Given the description of an element on the screen output the (x, y) to click on. 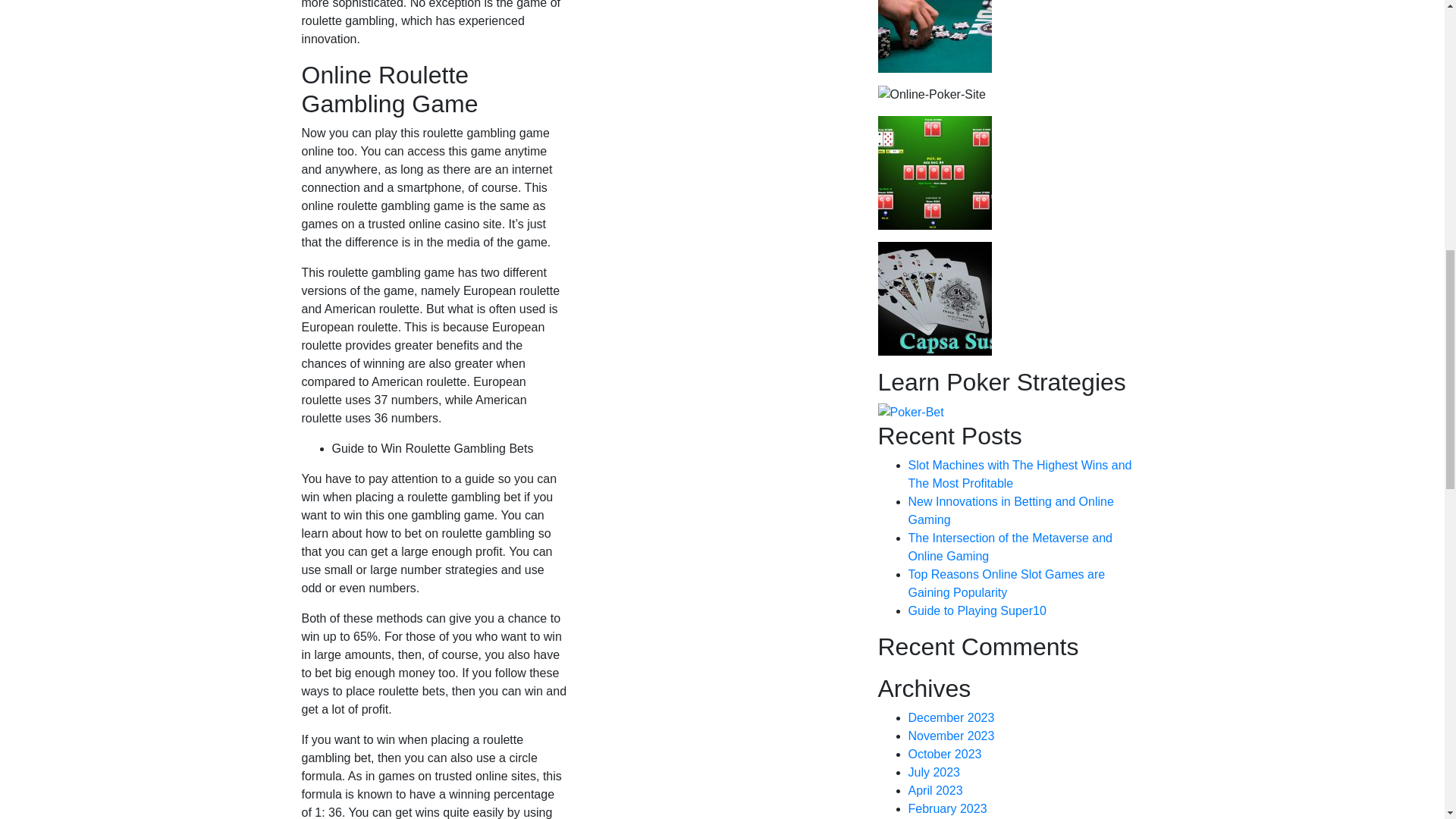
Top Reasons Online Slot Games are Gaining Popularity (1006, 583)
Learn Poker Strategies (910, 412)
April 2023 (935, 789)
November 2023 (951, 735)
The Intersection of the Metaverse and Online Gaming (1010, 546)
October 2023 (944, 753)
December 2023 (951, 717)
New Innovations in Betting and Online Gaming (1010, 510)
February 2023 (947, 808)
July 2023 (934, 771)
Slot Machines with The Highest Wins and The Most Profitable (1020, 473)
Guide to Playing Super10 (977, 610)
